Given the description of an element on the screen output the (x, y) to click on. 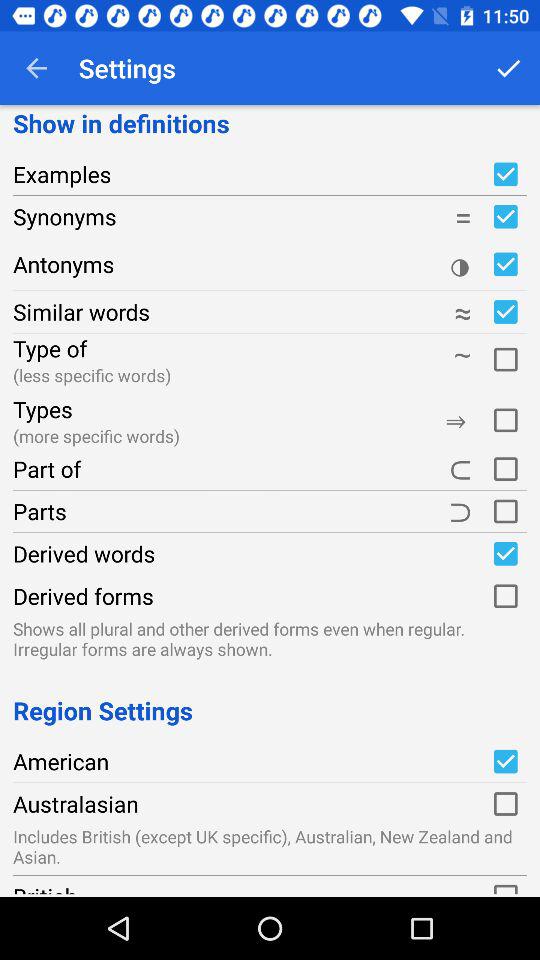
select icon to the left of settings app (36, 68)
